Given the description of an element on the screen output the (x, y) to click on. 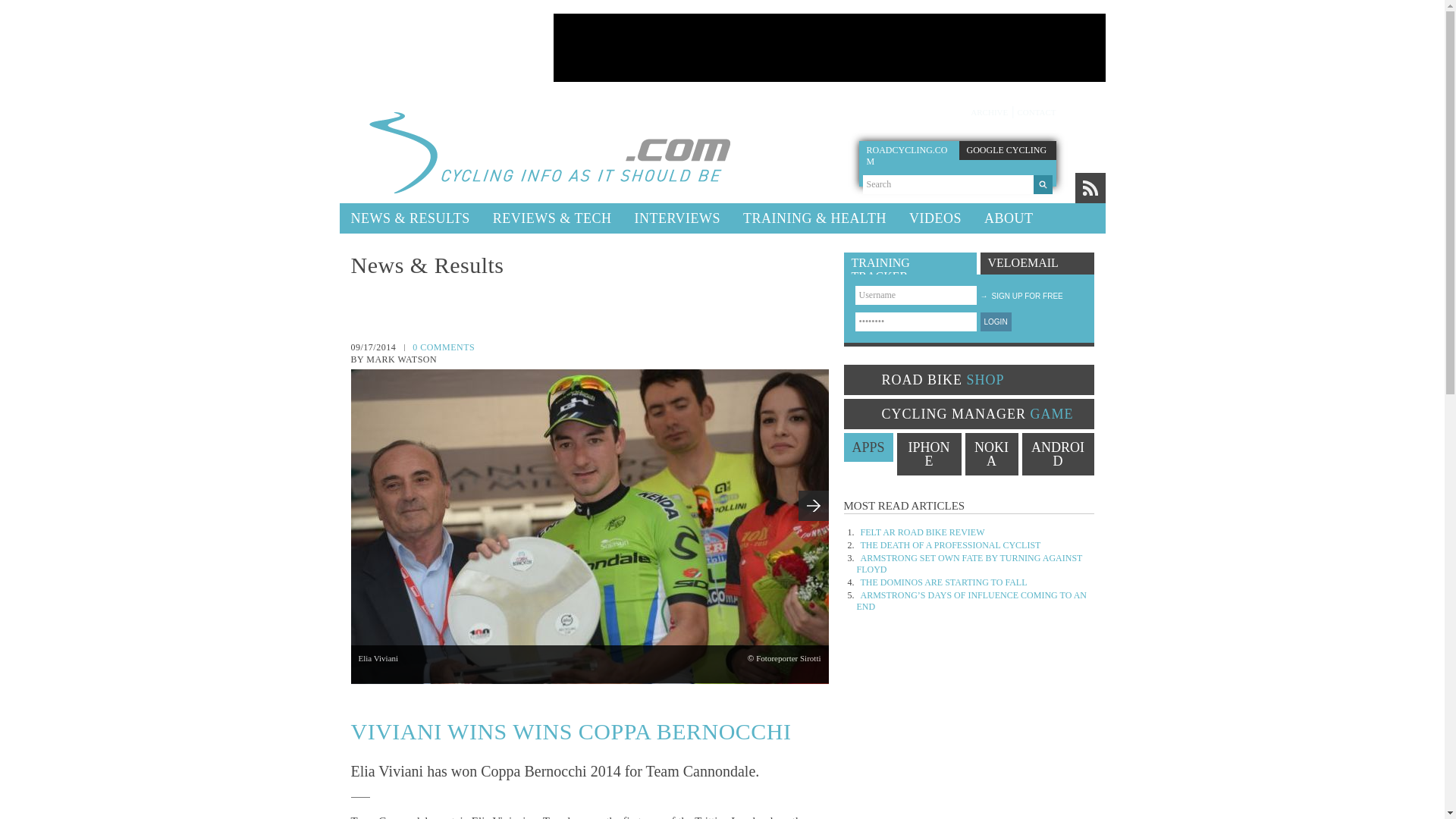
CONTACT (1035, 112)
LOGIN (994, 321)
INTERVIEWS (677, 218)
THE DOMINOS ARE STARTING TO FALL (943, 582)
ABOUT (1008, 218)
RoadCycling.com - Cycling info as it should be (540, 150)
Password (916, 321)
CYCLING MANAGER GAME (968, 413)
FELT AR ROAD BIKE REVIEW (922, 532)
Search (948, 184)
THE DEATH OF A PROFESSIONAL CYCLIST (950, 544)
ARMSTRONG SET OWN FATE BY TURNING AGAINST FLOYD (970, 563)
ANDROID (1058, 454)
IPHONE (928, 454)
ARCHIVE (989, 112)
